Given the description of an element on the screen output the (x, y) to click on. 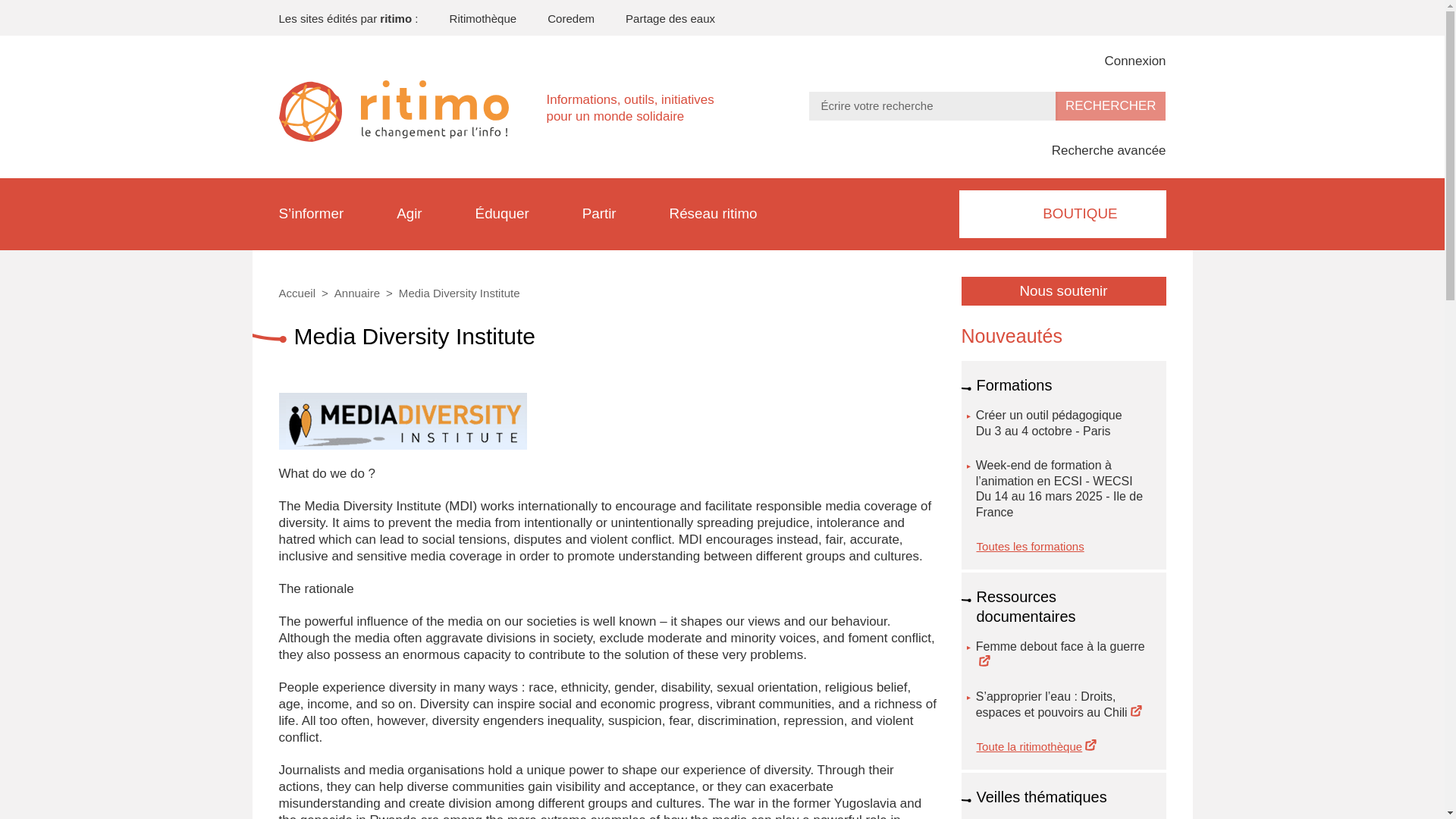
RECHERCHER (1110, 105)
Agir (408, 213)
Mastodon (1050, 15)
RSS (1157, 15)
Facebook (1023, 15)
Twitter (1077, 15)
Vimeo (1103, 15)
Partage des eaux (658, 18)
Linkedin (1129, 15)
Twitter (1077, 15)
Linkedin (1129, 15)
Facebook (1023, 15)
Vimeo (1103, 15)
Mastodon (1050, 15)
Connexion (1123, 61)
